Given the description of an element on the screen output the (x, y) to click on. 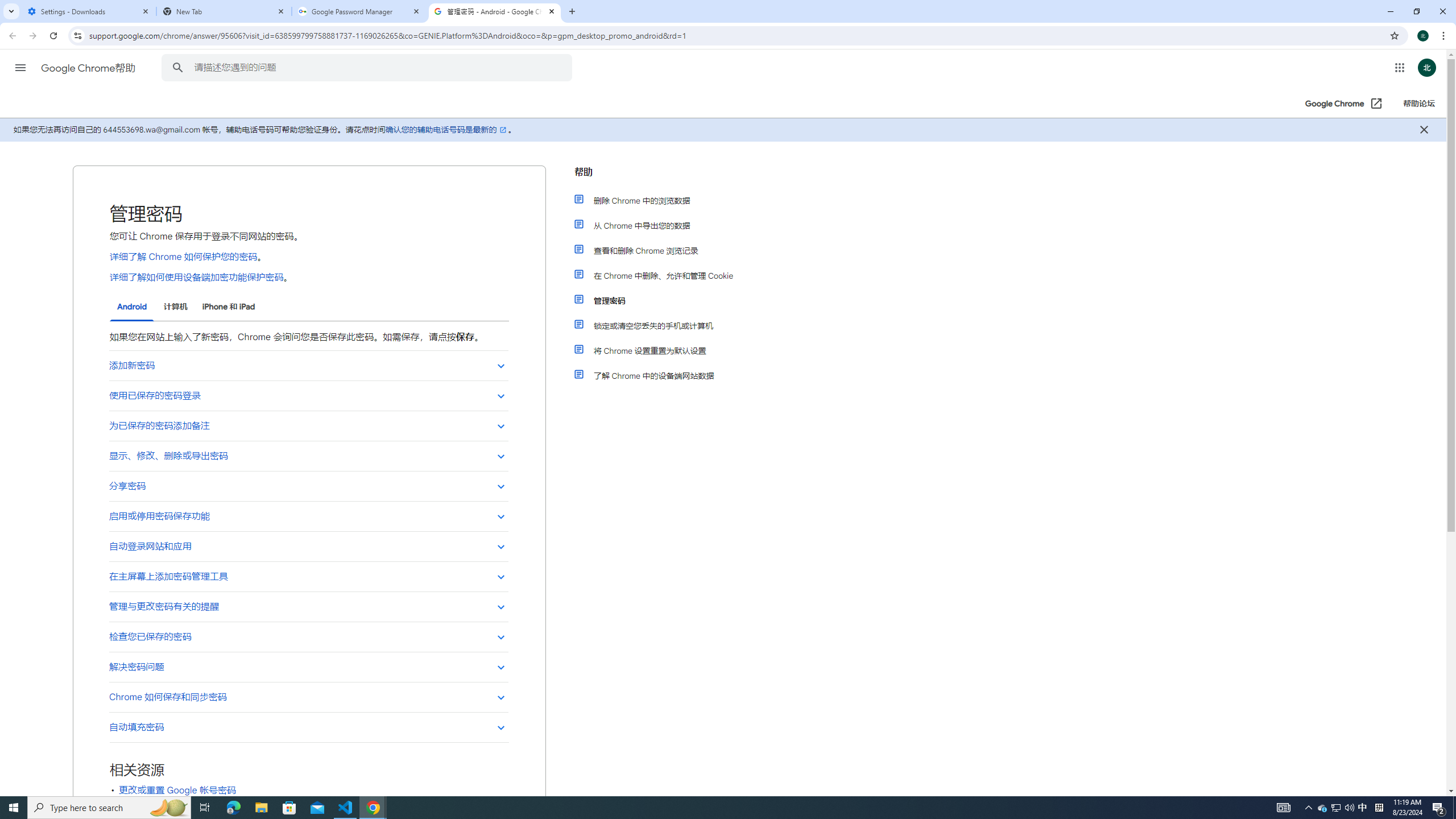
New Tab (224, 11)
Google Password Manager (359, 11)
